Given the description of an element on the screen output the (x, y) to click on. 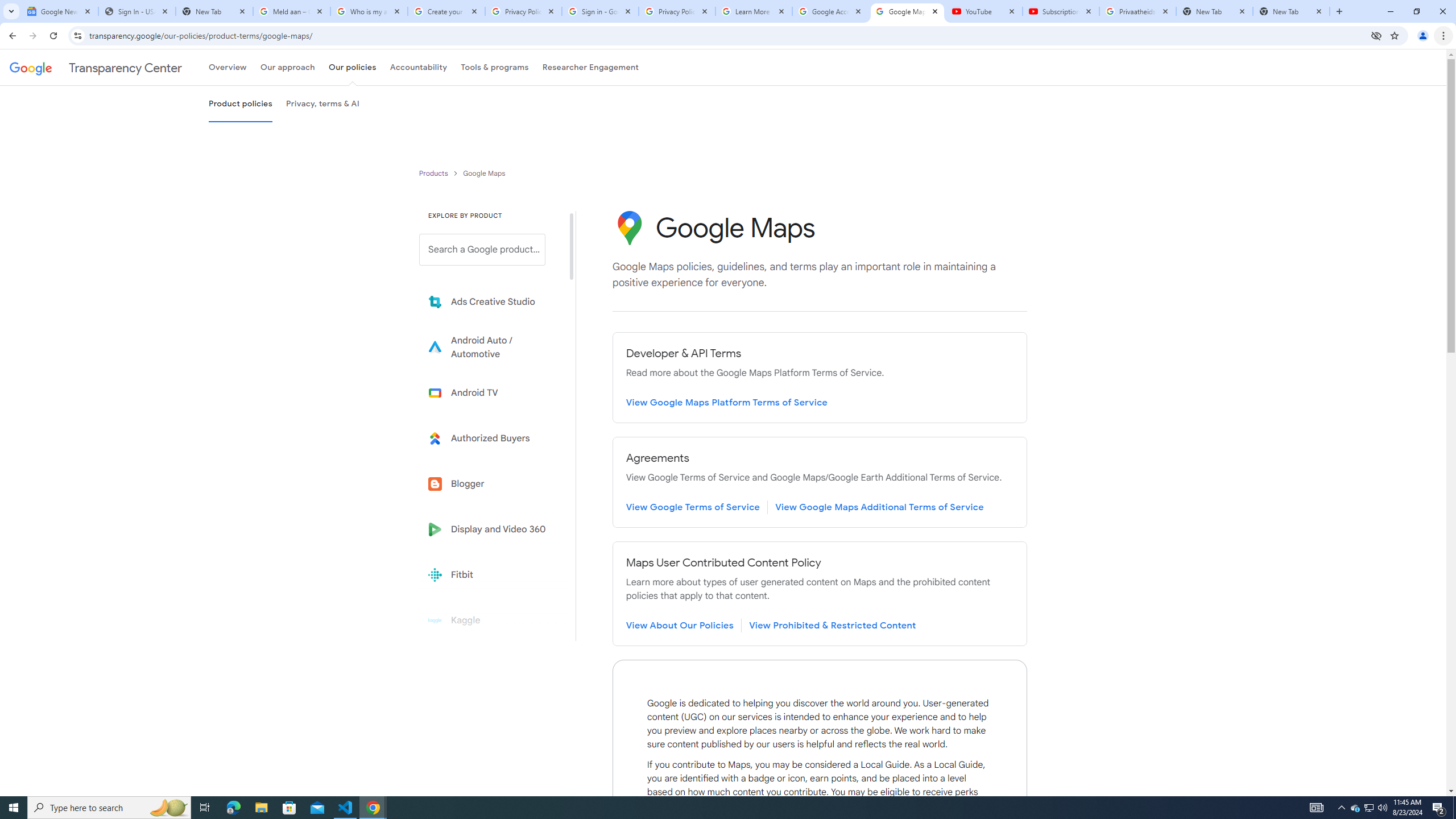
Learn more about Ads Creative Studio (490, 302)
Transparency Center (95, 67)
New Tab (1291, 11)
Kaggle (490, 619)
Sign in - Google Accounts (599, 11)
Our approach (287, 67)
Review Google Terms of Service page (692, 507)
Who is my administrator? - Google Account Help (368, 11)
Subscriptions - YouTube (1061, 11)
